Given the description of an element on the screen output the (x, y) to click on. 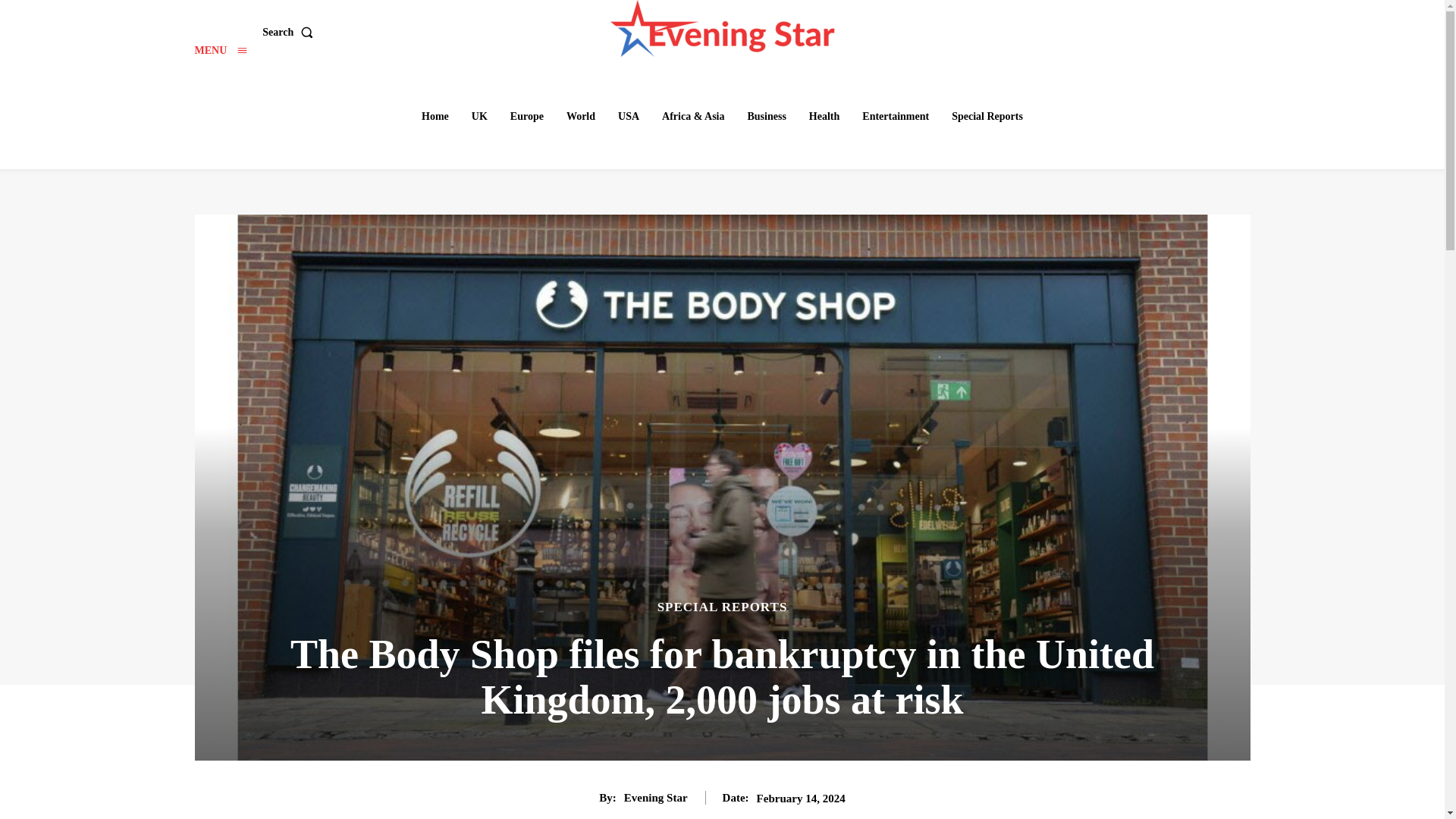
World (580, 116)
Entertainment (895, 116)
MENU (220, 50)
Special Reports (986, 116)
Menu (220, 50)
Search (290, 32)
Health (824, 116)
Europe (526, 116)
Business (766, 116)
Home (435, 116)
USA (628, 116)
UK (479, 116)
